Given the description of an element on the screen output the (x, y) to click on. 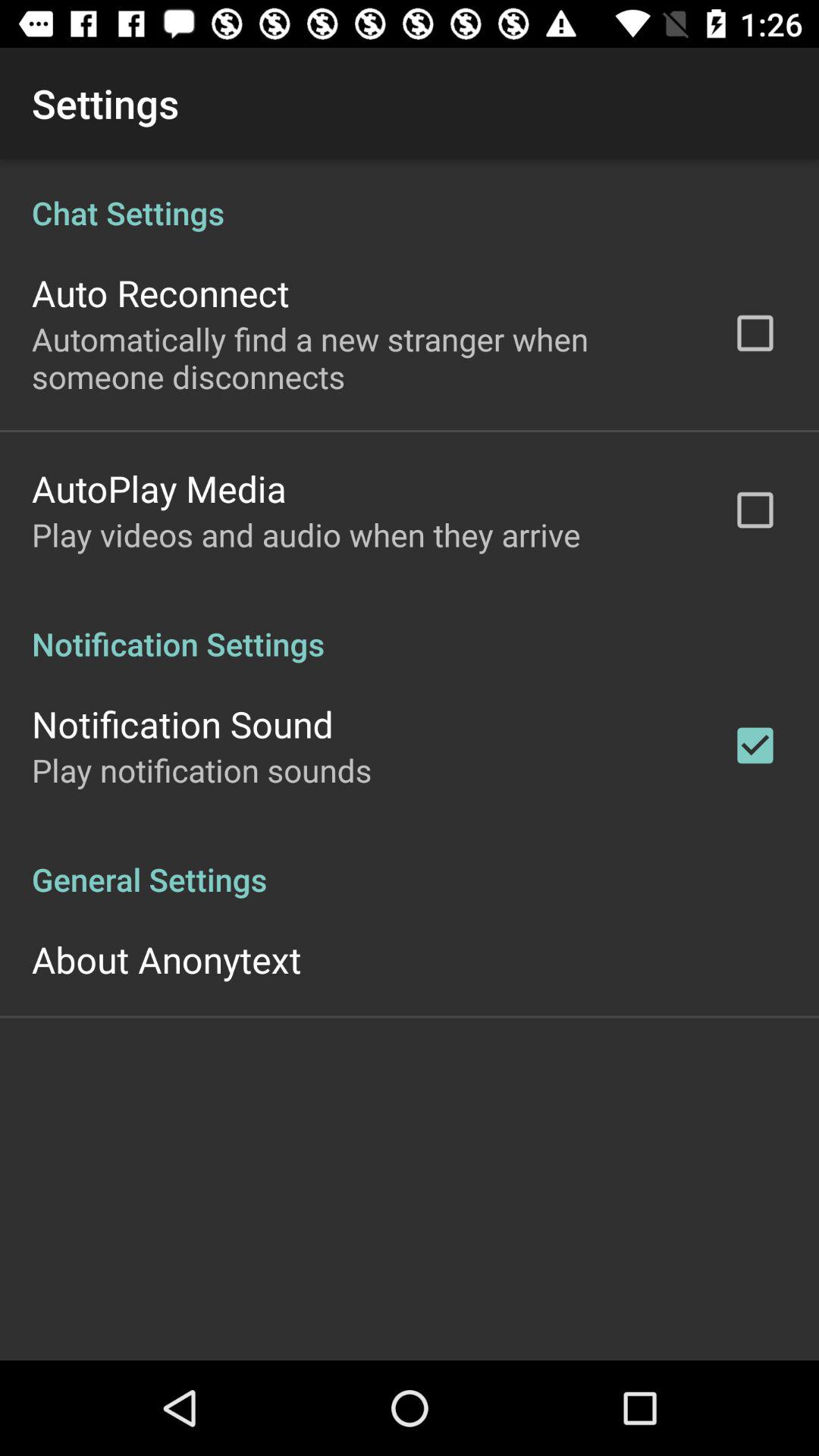
turn off item below the notification settings app (182, 723)
